Given the description of an element on the screen output the (x, y) to click on. 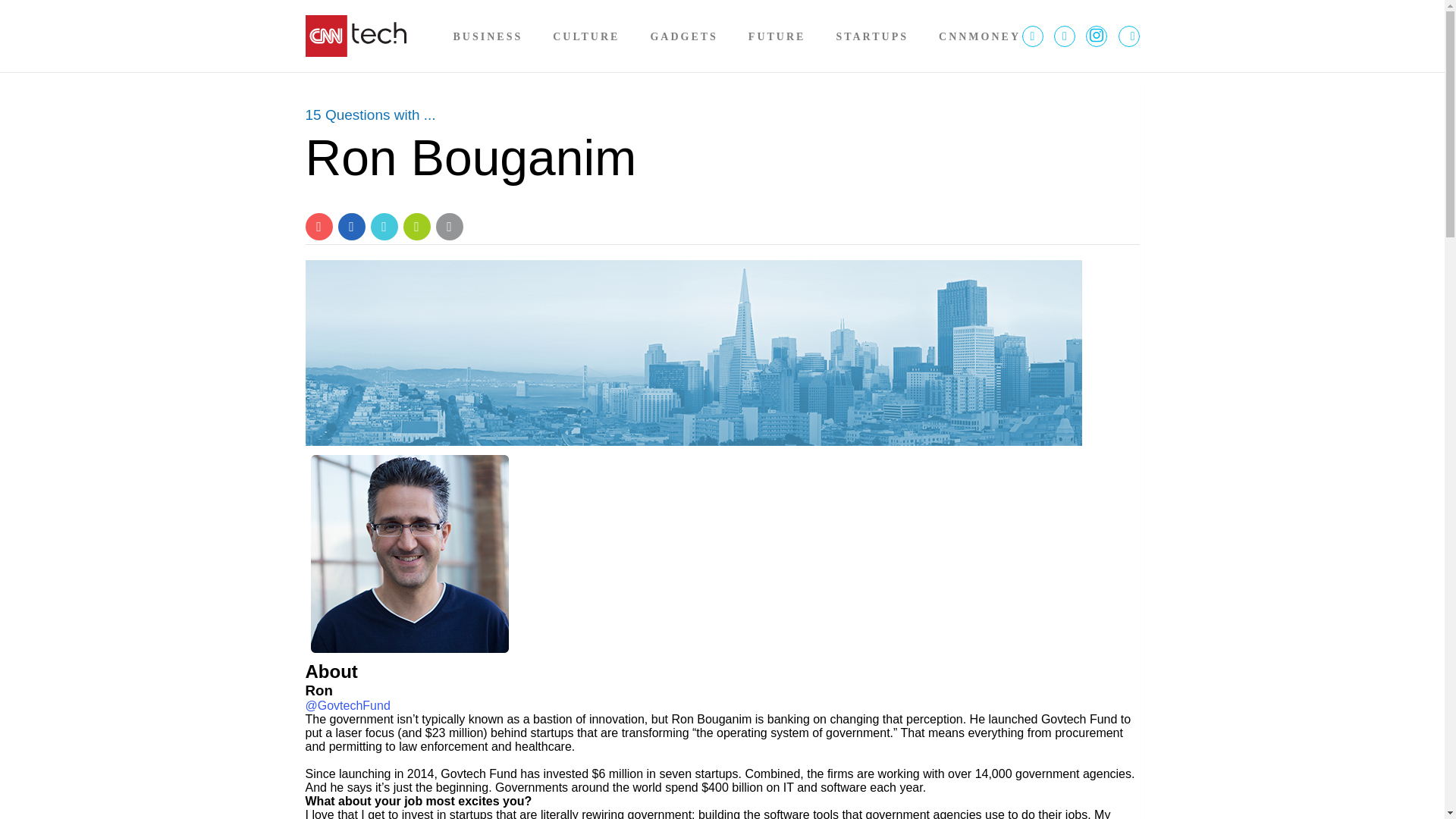
GADGETS (683, 36)
STARTUPS (871, 36)
FUTURE (777, 36)
15 Questions with ... (369, 114)
CULTURE (586, 36)
BUSINESS (487, 36)
CNNMONEY (979, 36)
